Given the description of an element on the screen output the (x, y) to click on. 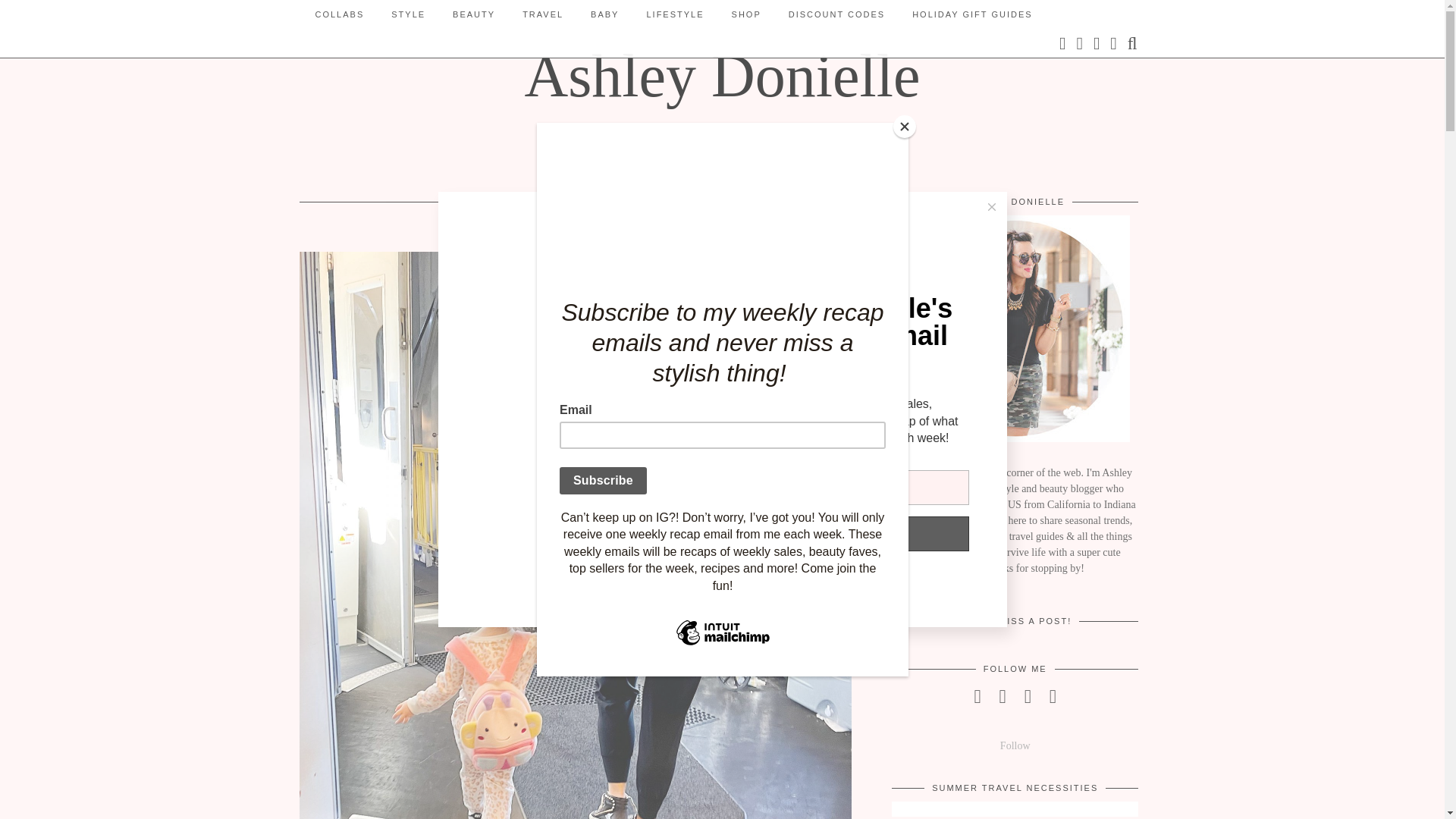
SHOP (745, 14)
LIFESTYLE (674, 14)
BABY (603, 14)
HOLIDAY GIFT GUIDES (971, 14)
DISCOUNT CODES (836, 14)
TRAVEL (542, 14)
COLLABS (339, 14)
BEAUTY (473, 14)
STYLE (408, 14)
Ashley Donielle (722, 75)
